Given the description of an element on the screen output the (x, y) to click on. 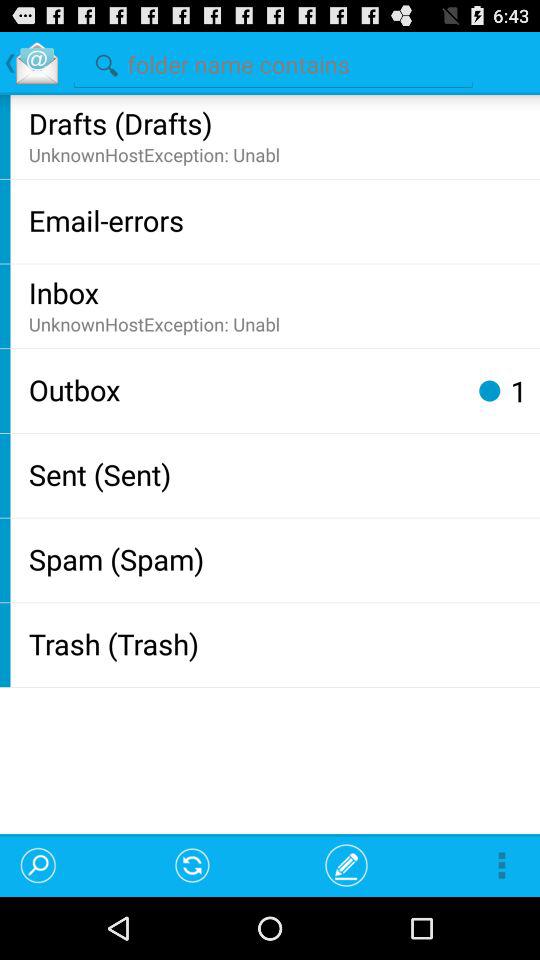
search folders (273, 61)
